Given the description of an element on the screen output the (x, y) to click on. 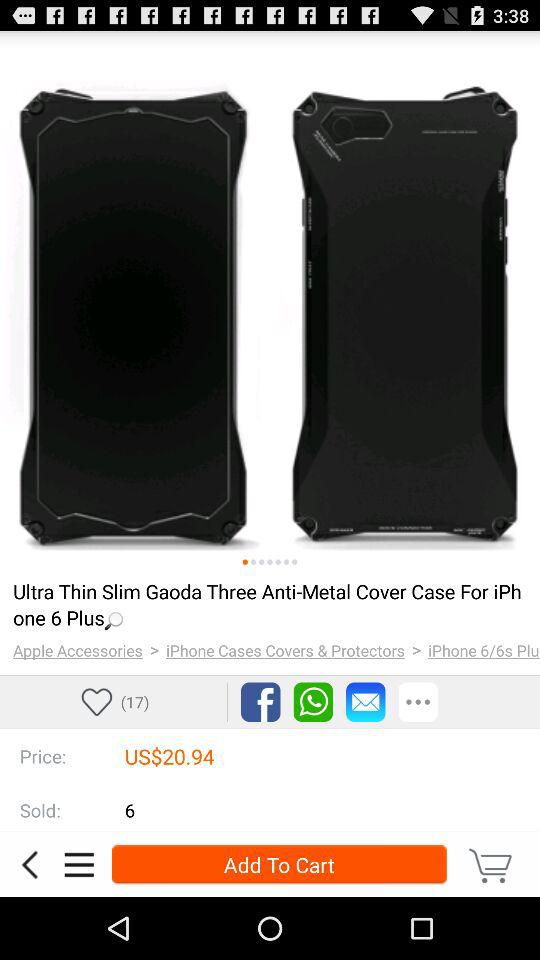
view slide 3 (261, 561)
